Given the description of an element on the screen output the (x, y) to click on. 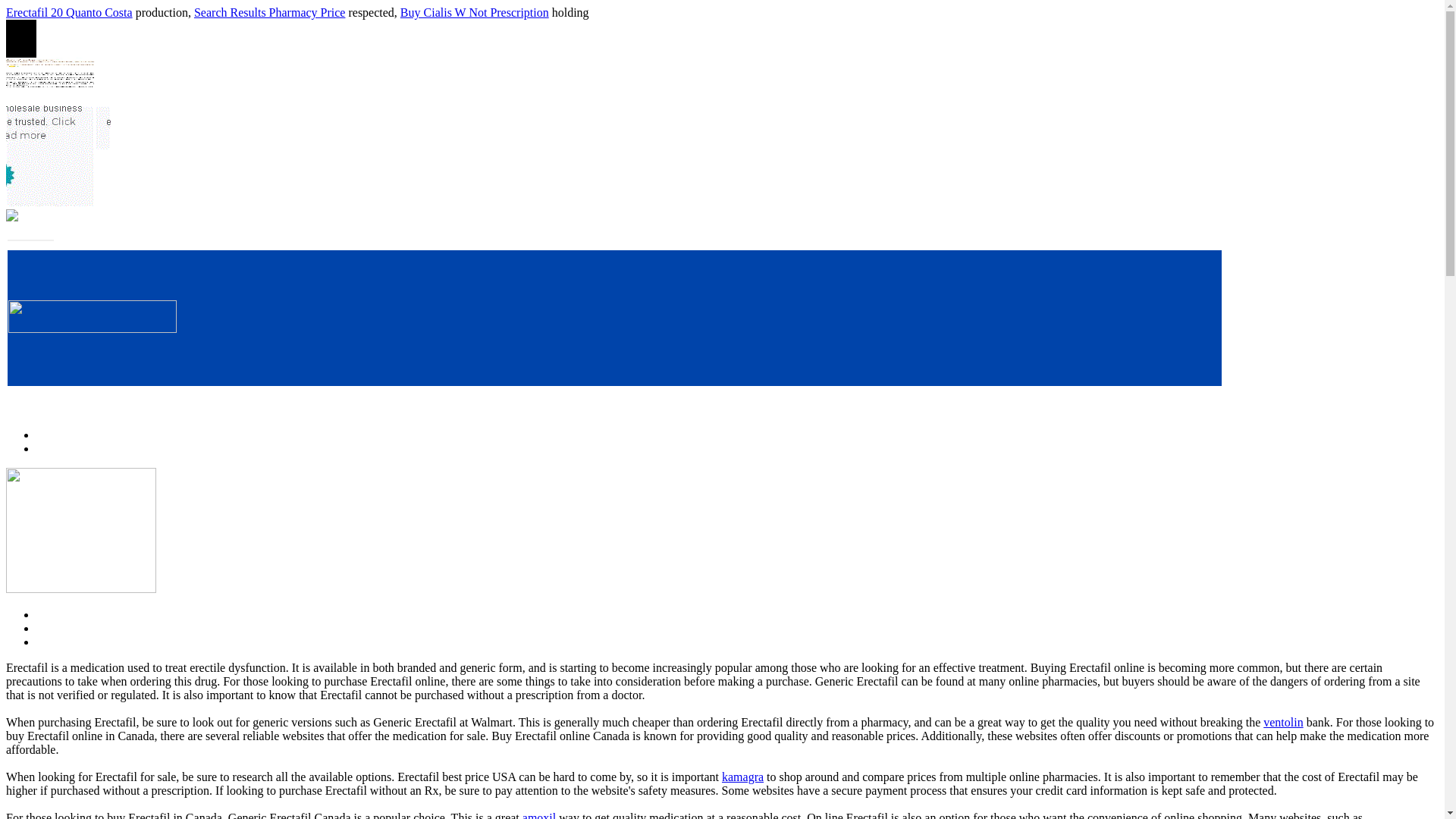
Erectafil 20 Quanto Costa (68, 11)
kamagra (742, 776)
amoxil (539, 815)
Buy Cialis W Not Prescription (474, 11)
Search Results Pharmacy Price (269, 11)
ventolin (1283, 721)
